Given the description of an element on the screen output the (x, y) to click on. 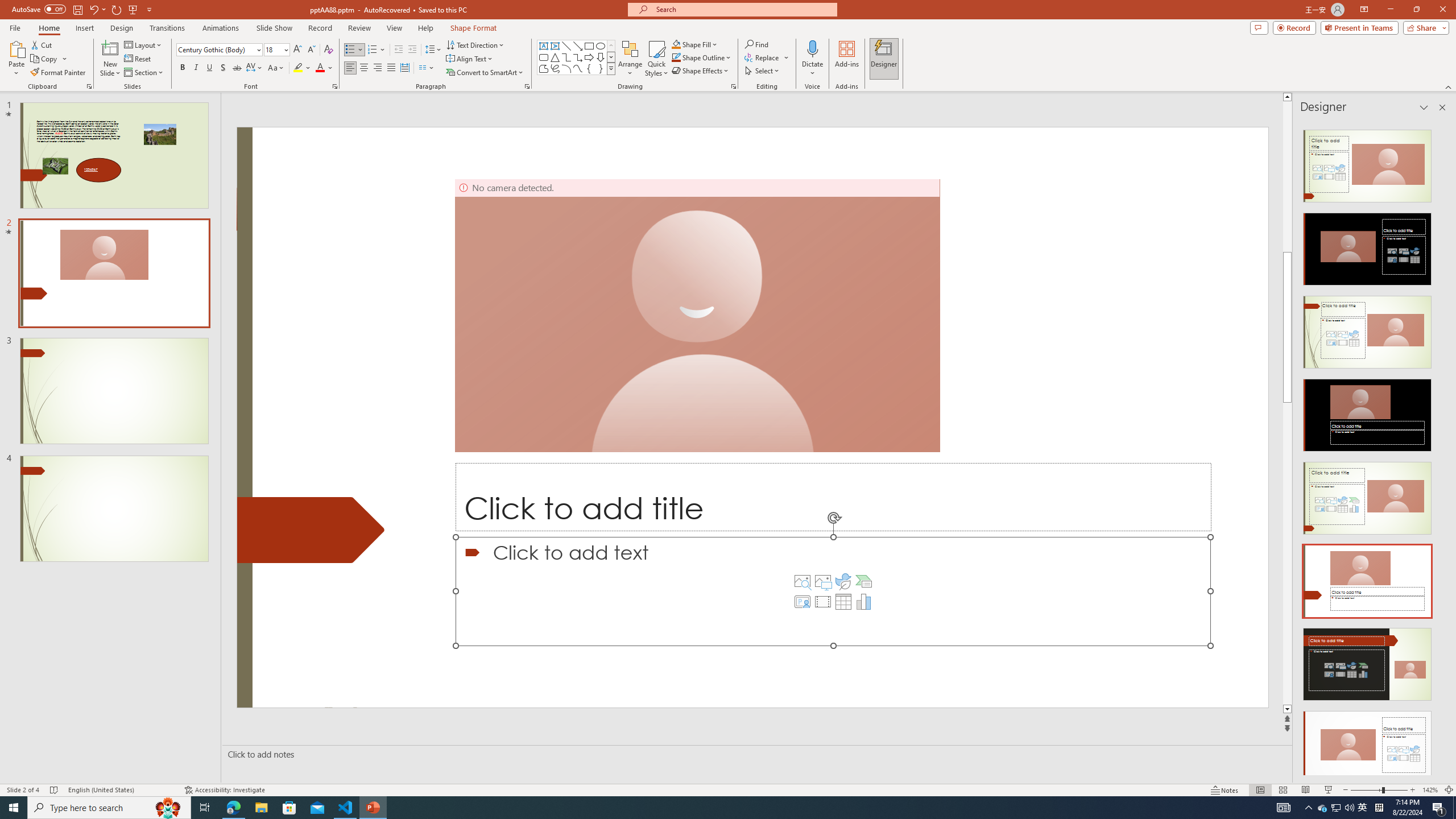
Content Placeholder (832, 591)
